Given the description of an element on the screen output the (x, y) to click on. 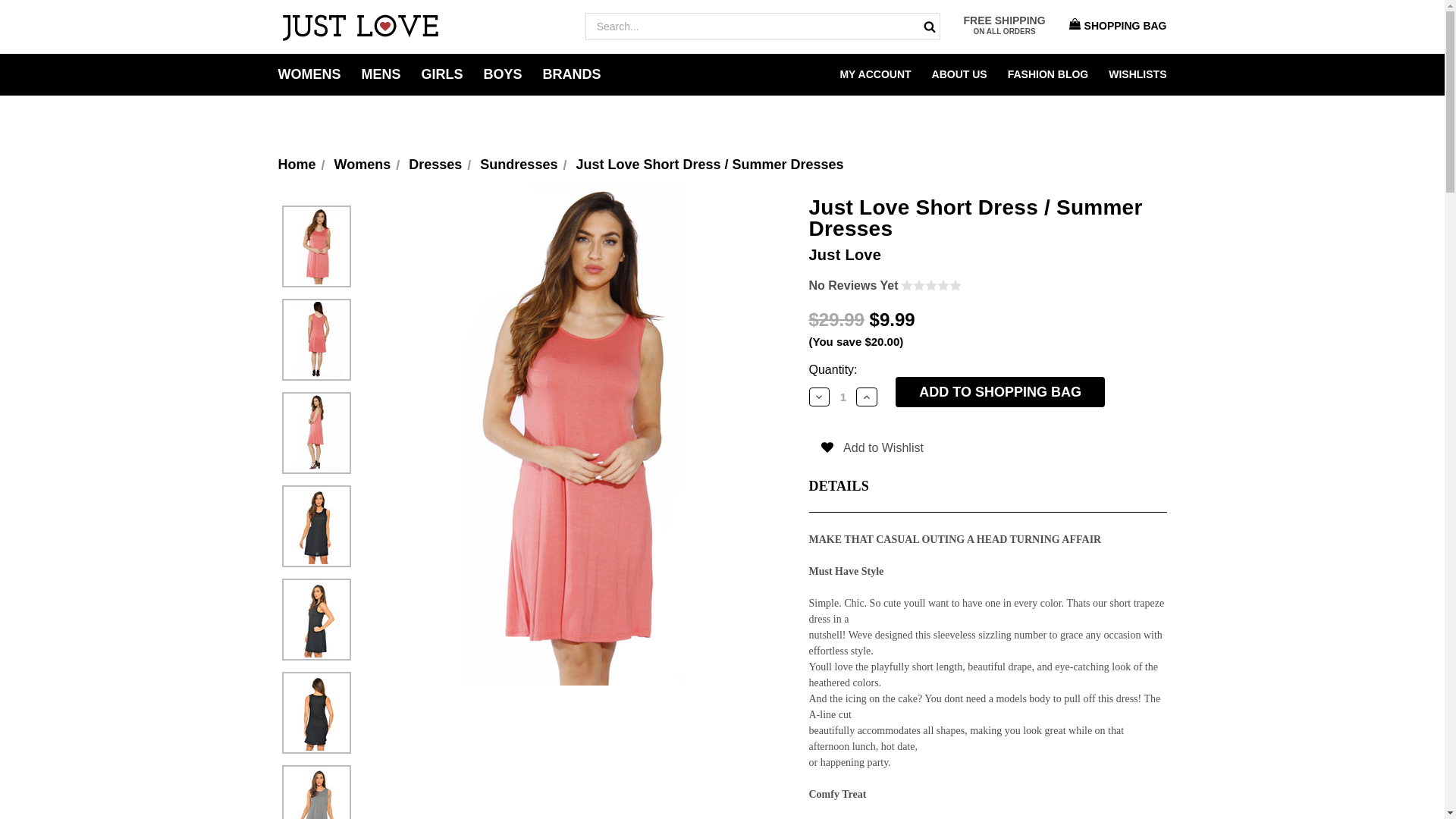
ABOUT US (959, 74)
SHOPPING BAG (1114, 26)
WOMENS (309, 74)
Sundresses (518, 164)
Just Love Fashion (360, 26)
1 (842, 396)
WISHLISTS (1137, 74)
Womens (362, 164)
Add to Shopping Bag (1000, 391)
Home (296, 164)
MY ACCOUNT (875, 74)
BRANDS (572, 74)
Dresses (435, 164)
BOYS (502, 74)
MENS (380, 74)
